Given the description of an element on the screen output the (x, y) to click on. 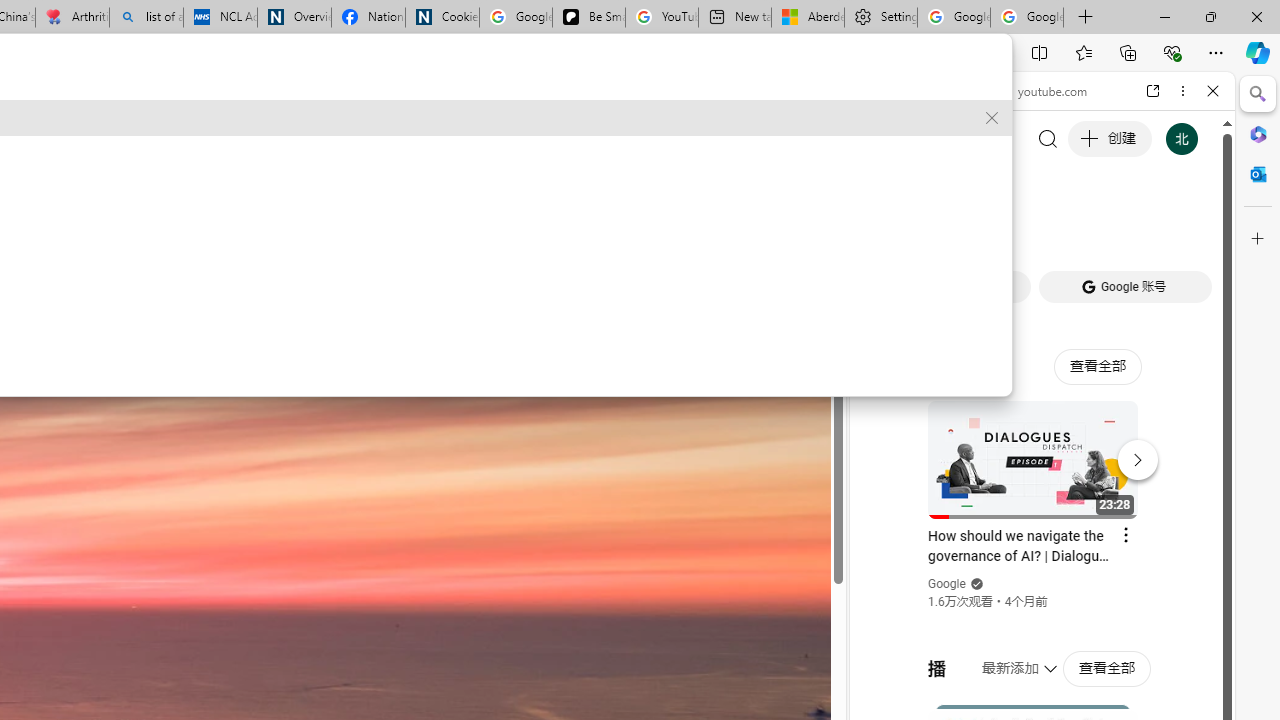
Close (1213, 91)
Search videos from youtube.com (1005, 657)
Copilot (Ctrl+Shift+.) (1258, 52)
Trailer #2 [HD] (1042, 594)
NCL Adult Asthma Inhaler Choice Guideline (220, 17)
list of asthma inhalers uk - Search (146, 17)
VIDEOS (1006, 228)
Close Outlook pane (1258, 174)
Music (1042, 543)
Search (1258, 94)
Settings (880, 17)
Animation (559, 78)
Arthritis: Ask Health Professionals (71, 17)
